Given the description of an element on the screen output the (x, y) to click on. 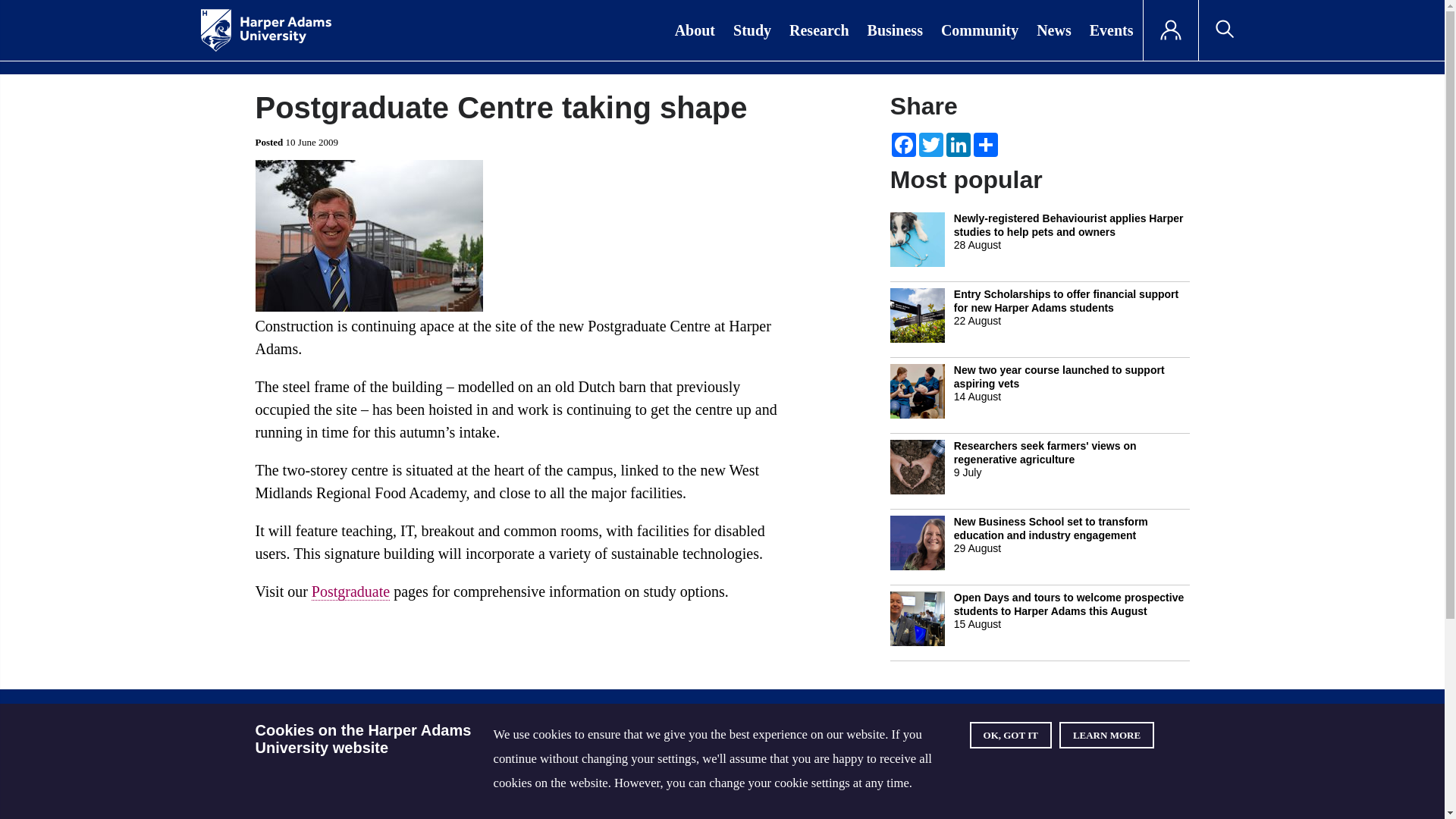
Research (819, 30)
Community (979, 30)
Study (751, 30)
Events (1111, 30)
Business (895, 30)
About (694, 30)
